Given the description of an element on the screen output the (x, y) to click on. 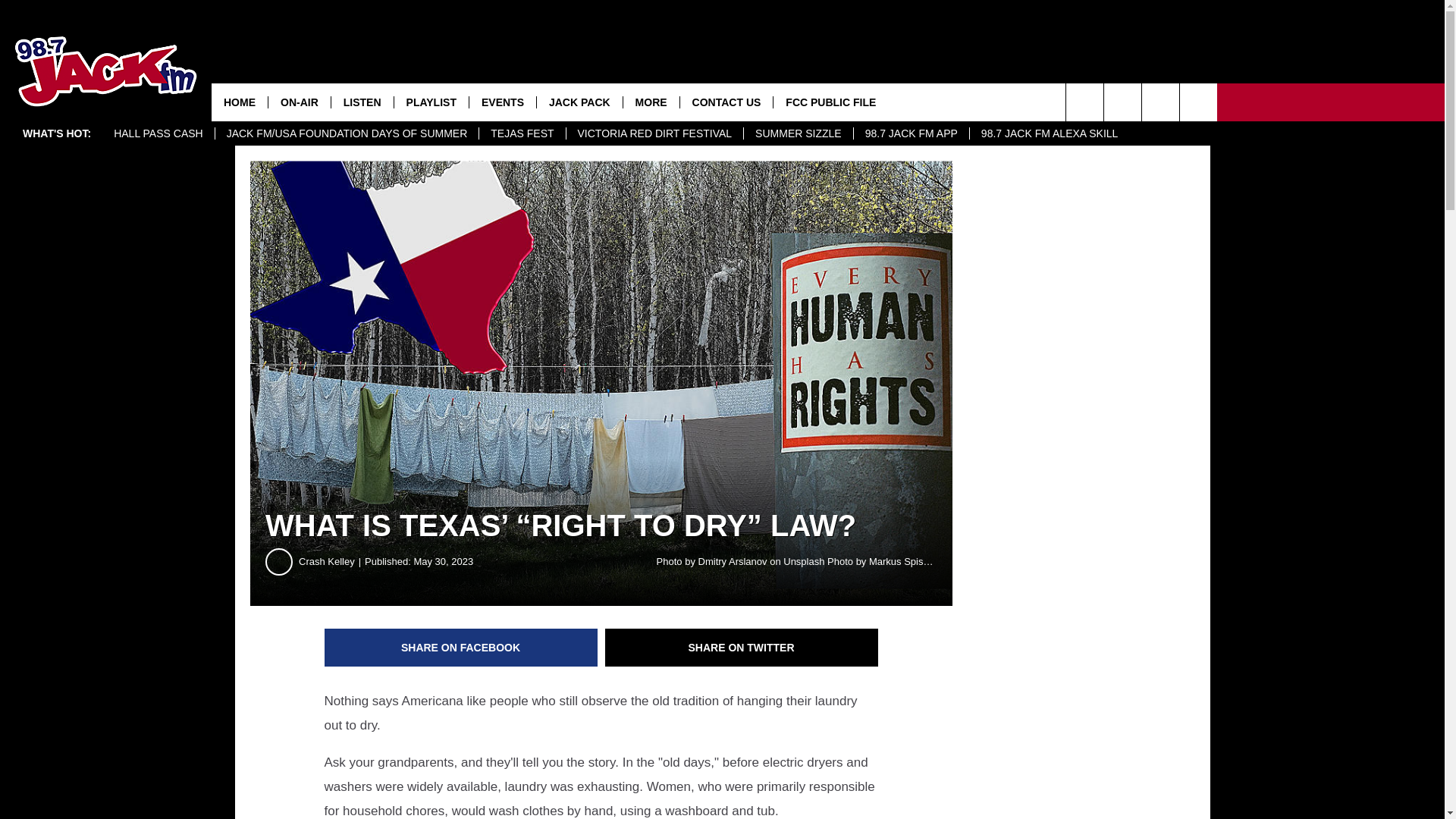
98.7 JACK FM APP (911, 133)
SUMMER SIZZLE (797, 133)
WHAT'S HOT: (56, 133)
VICTORIA RED DIRT FESTIVAL (655, 133)
EVENTS (501, 102)
HALL PASS CASH (157, 133)
TEJAS FEST (521, 133)
98.7 JACK FM ALEXA SKILL (1049, 133)
JACK PACK (579, 102)
ON-AIR (298, 102)
